Given the description of an element on the screen output the (x, y) to click on. 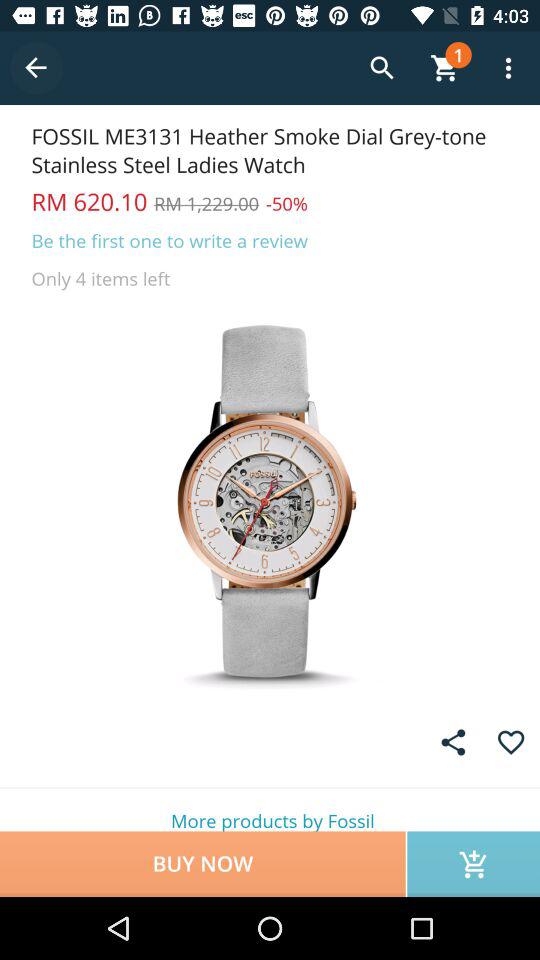
press icon below more products by icon (473, 863)
